Given the description of an element on the screen output the (x, y) to click on. 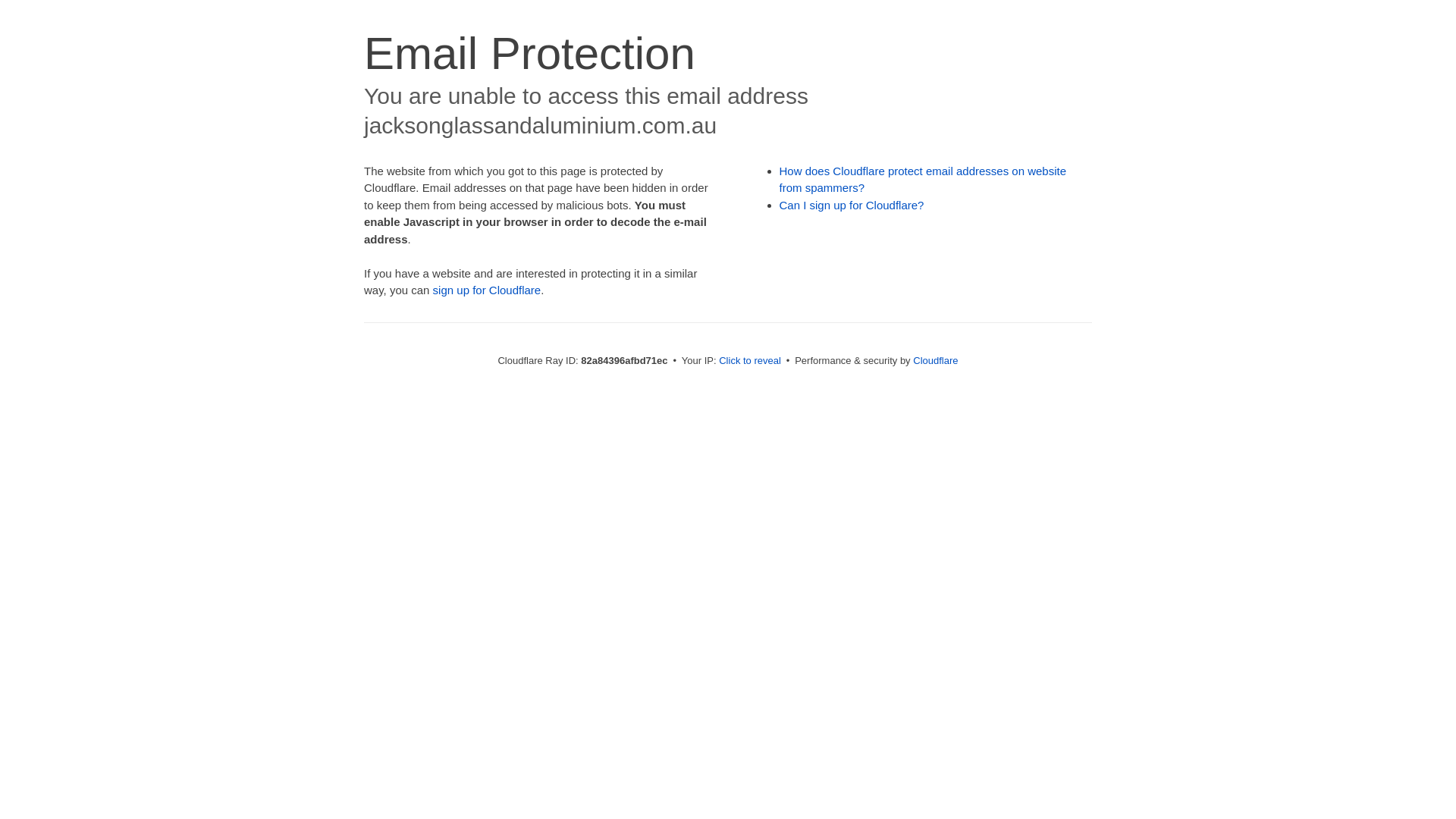
sign up for Cloudflare Element type: text (487, 289)
Cloudflare Element type: text (935, 360)
Click to reveal Element type: text (749, 360)
Can I sign up for Cloudflare? Element type: text (851, 204)
